Given the description of an element on the screen output the (x, y) to click on. 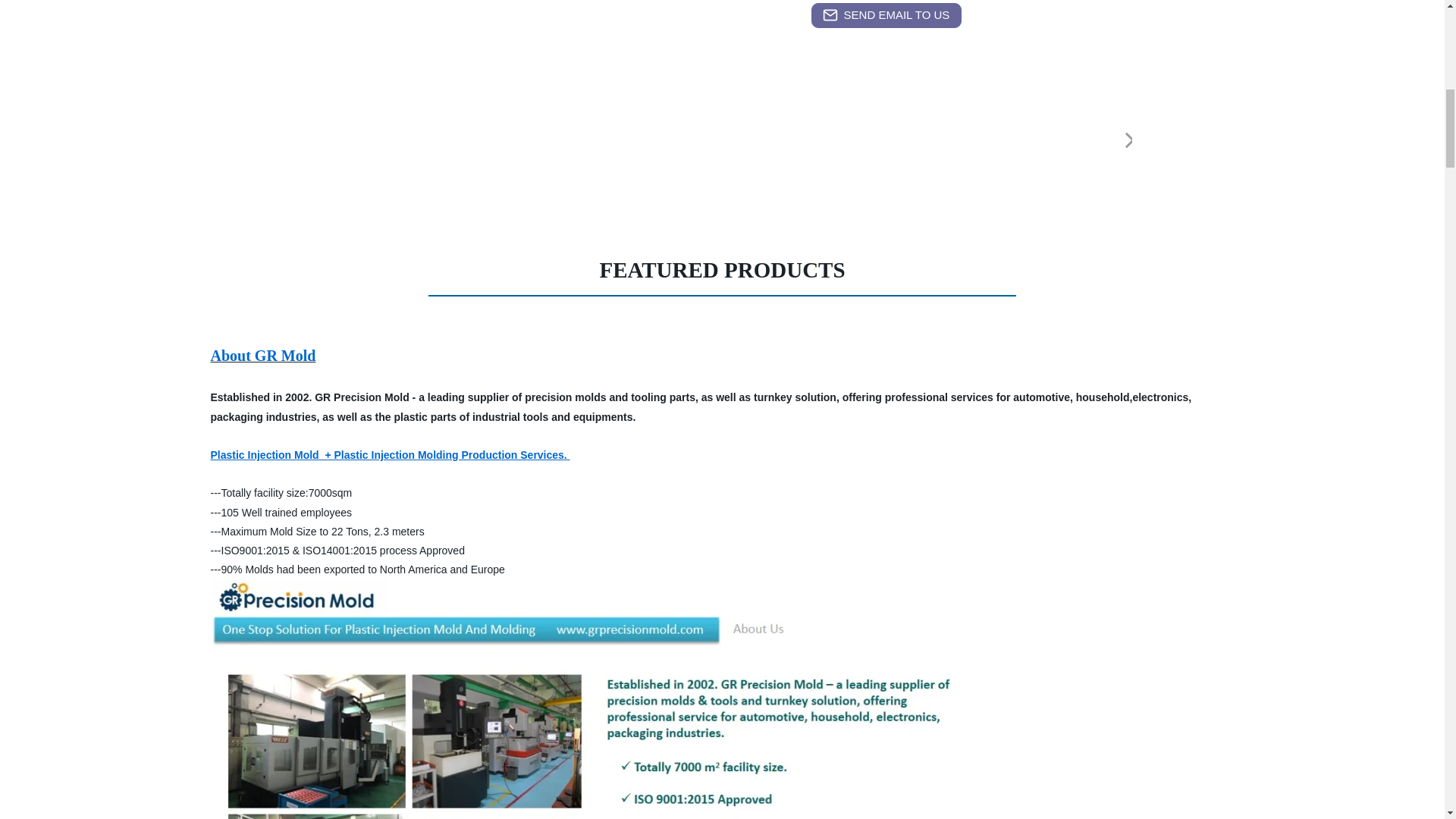
SEND EMAIL TO US (885, 15)
